Given the description of an element on the screen output the (x, y) to click on. 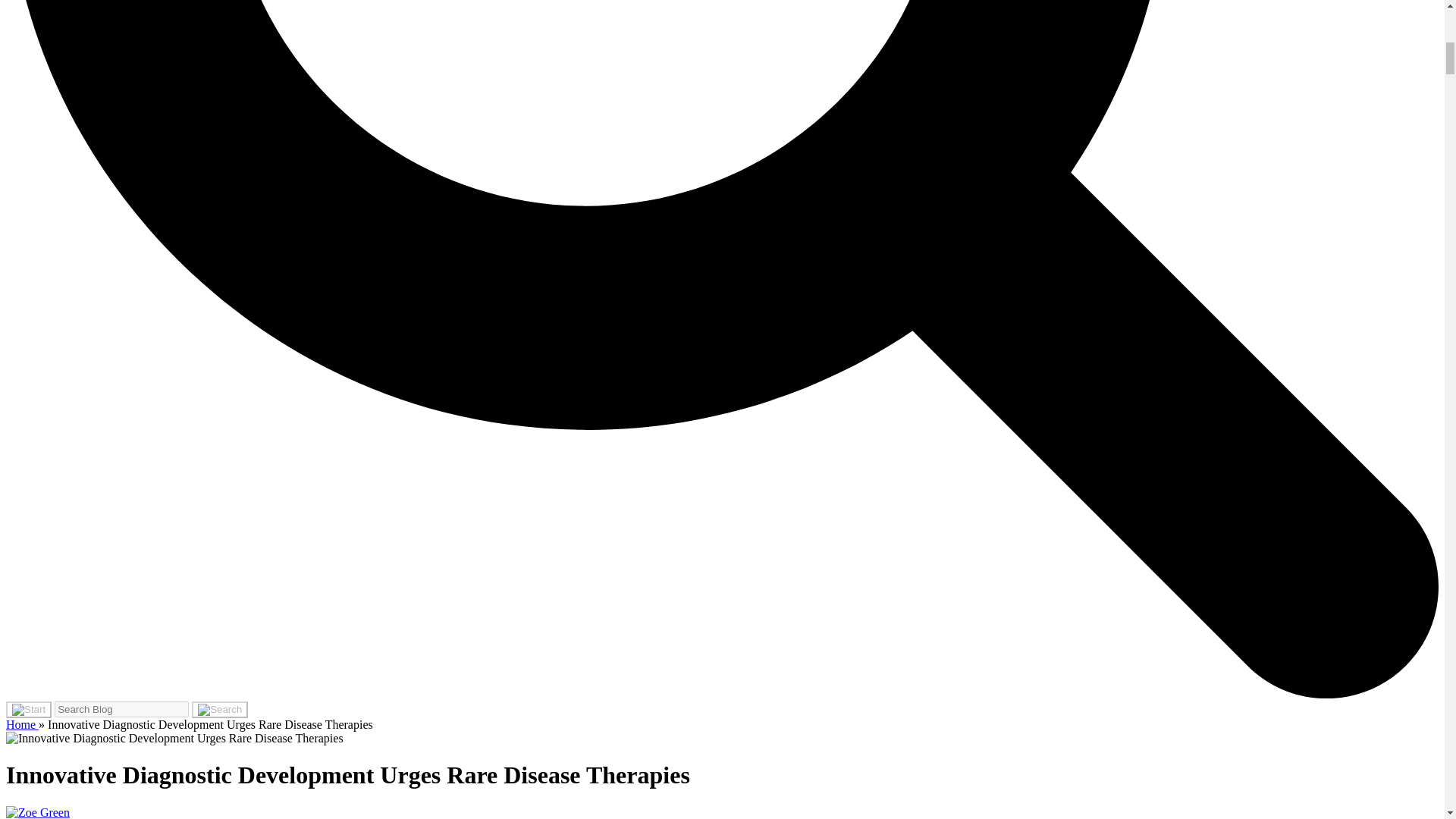
Blog  Home (22, 724)
Home (22, 724)
